Given the description of an element on the screen output the (x, y) to click on. 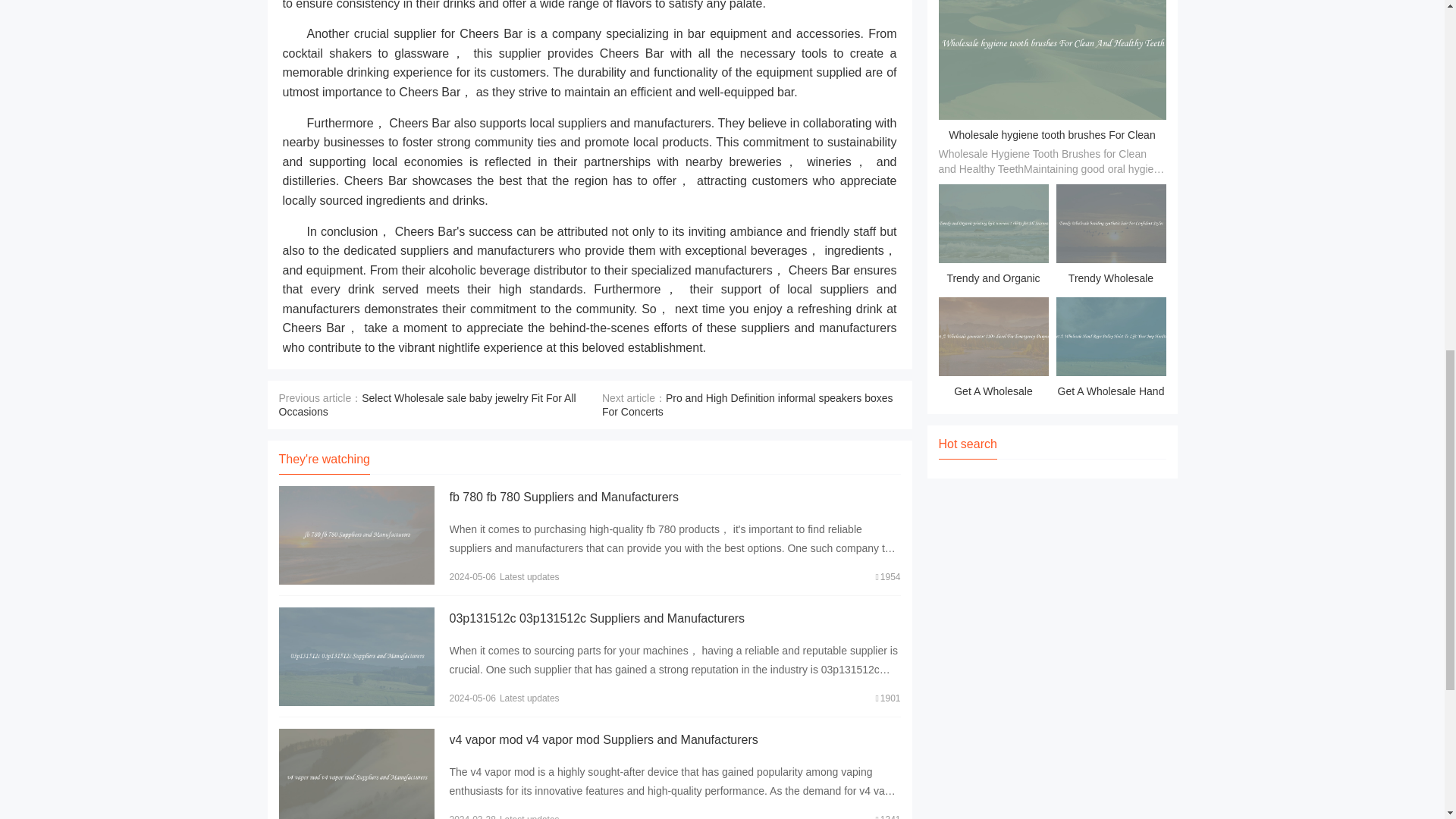
Select Wholesale sale baby jewelry Fit For All Occasions (427, 404)
Wholesale hygiene tooth brushes For Clean And Healthy Teeth (1051, 145)
Get A Wholesale generator 110v diesel For Emergency Purposes (993, 349)
03p131512c 03p131512c Suppliers and Manufacturers (596, 617)
fb 780 fb 780 Suppliers and Manufacturers (563, 496)
v4 vapor mod v4 vapor mod Suppliers and Manufacturers (602, 739)
